Given the description of an element on the screen output the (x, y) to click on. 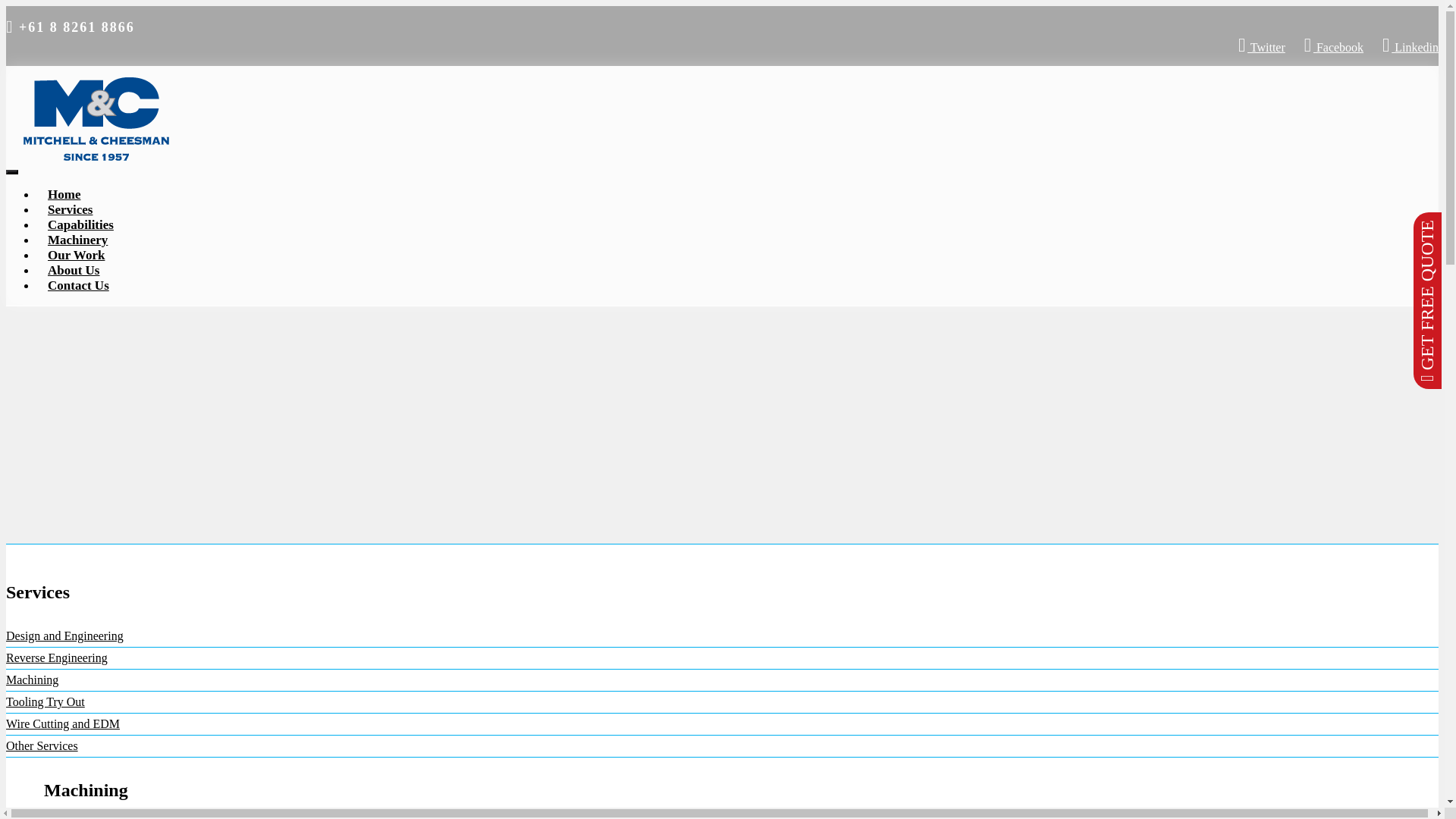
Capabilities Element type: text (80, 224)
Machinery Element type: text (77, 239)
Design and Engineering Element type: text (722, 635)
Twitter Element type: text (1261, 46)
Linkedin Element type: text (1410, 46)
Mitchell & Cheesman Element type: hover (100, 118)
Reverse Engineering Element type: text (722, 657)
Home Element type: text (63, 194)
Mitchell & Cheesman Element type: hover (100, 167)
Facebook Element type: text (1333, 46)
About Us Element type: text (73, 270)
Tooling Try Out Element type: text (722, 701)
Contact Us Element type: text (78, 285)
Services Element type: text (69, 209)
Wire Cutting and EDM Element type: text (722, 723)
Our Work Element type: text (76, 254)
Other Services Element type: text (722, 745)
Machining Element type: text (722, 679)
